Given the description of an element on the screen output the (x, y) to click on. 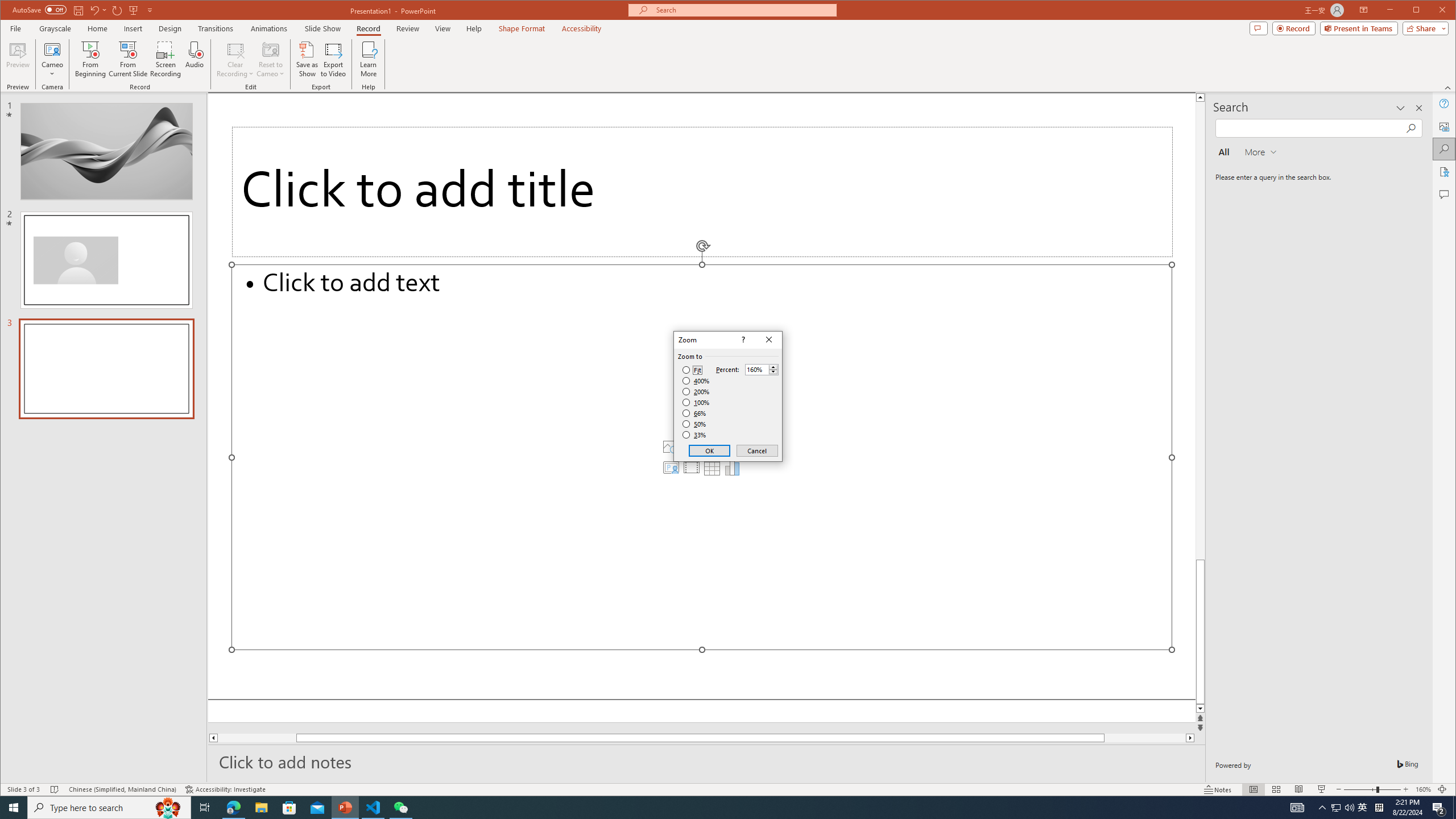
Percent (756, 369)
Microsoft Edge - 1 running window (233, 807)
